Given the description of an element on the screen output the (x, y) to click on. 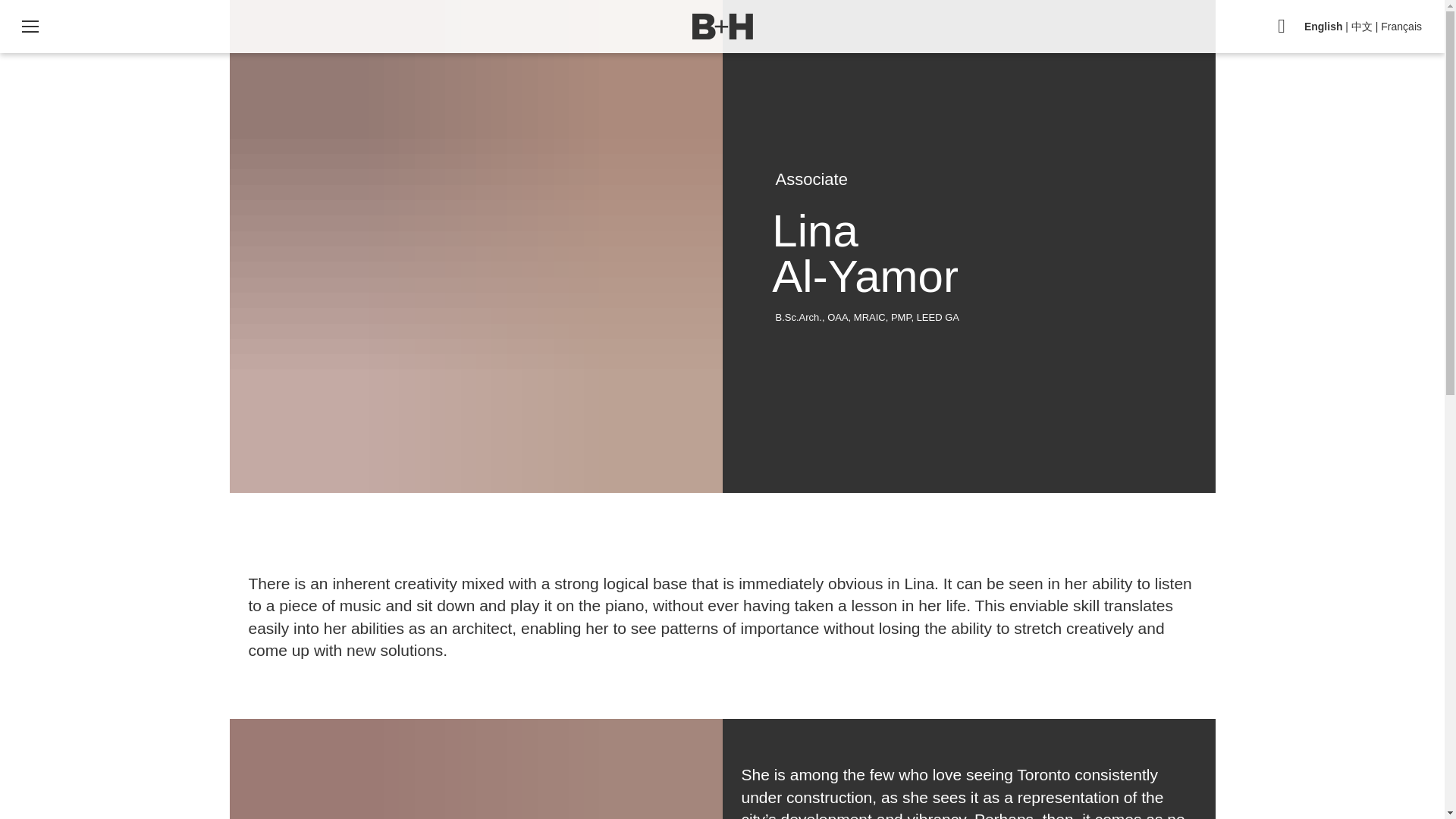
Search (1281, 26)
English (1323, 26)
Menu (29, 26)
